Given the description of an element on the screen output the (x, y) to click on. 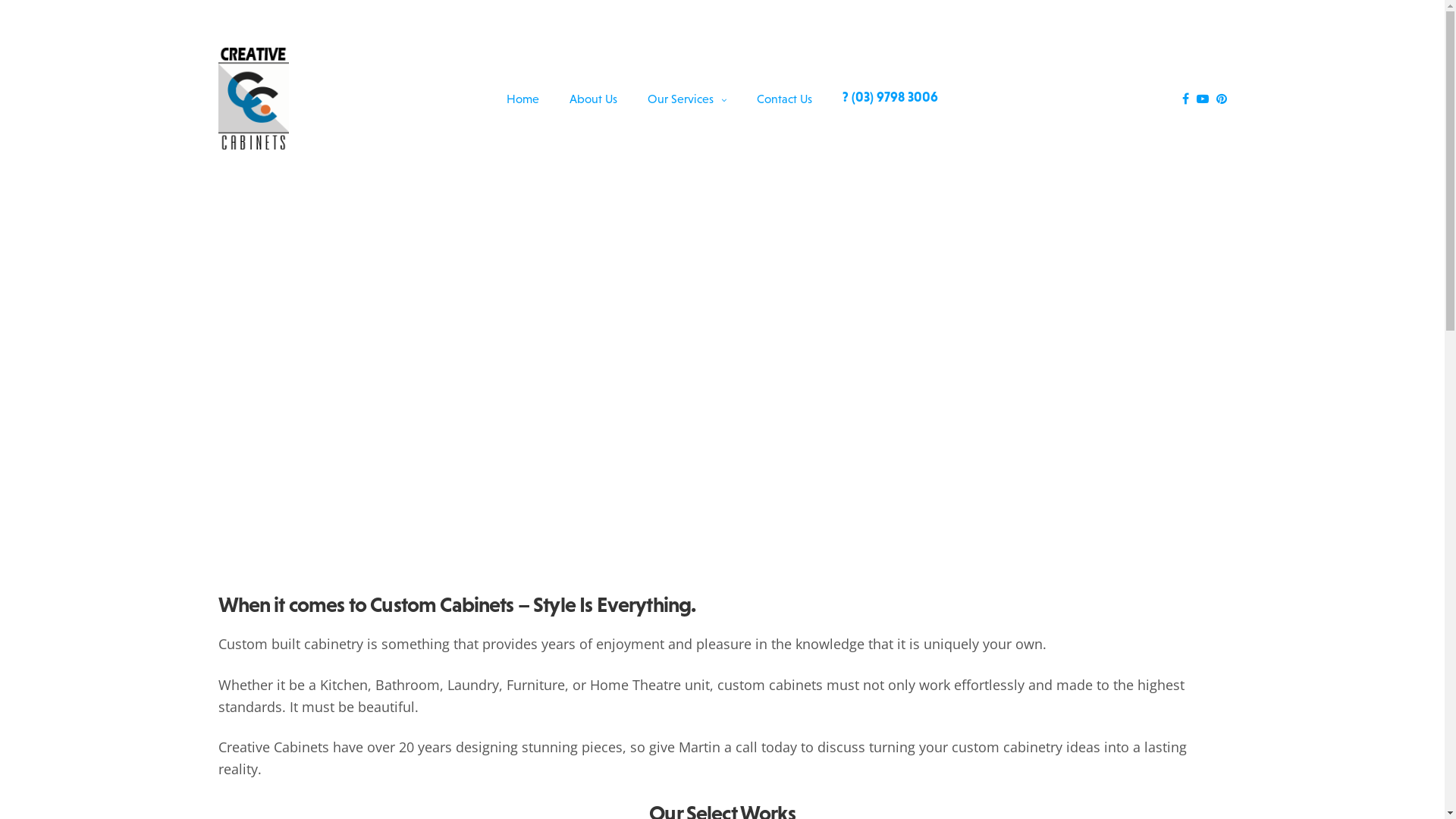
? (03) 9798 3006 Element type: text (890, 97)
Home Element type: text (522, 98)
Contact Us Element type: text (784, 98)
Our Services Element type: text (686, 98)
About Us Element type: text (593, 98)
